Given the description of an element on the screen output the (x, y) to click on. 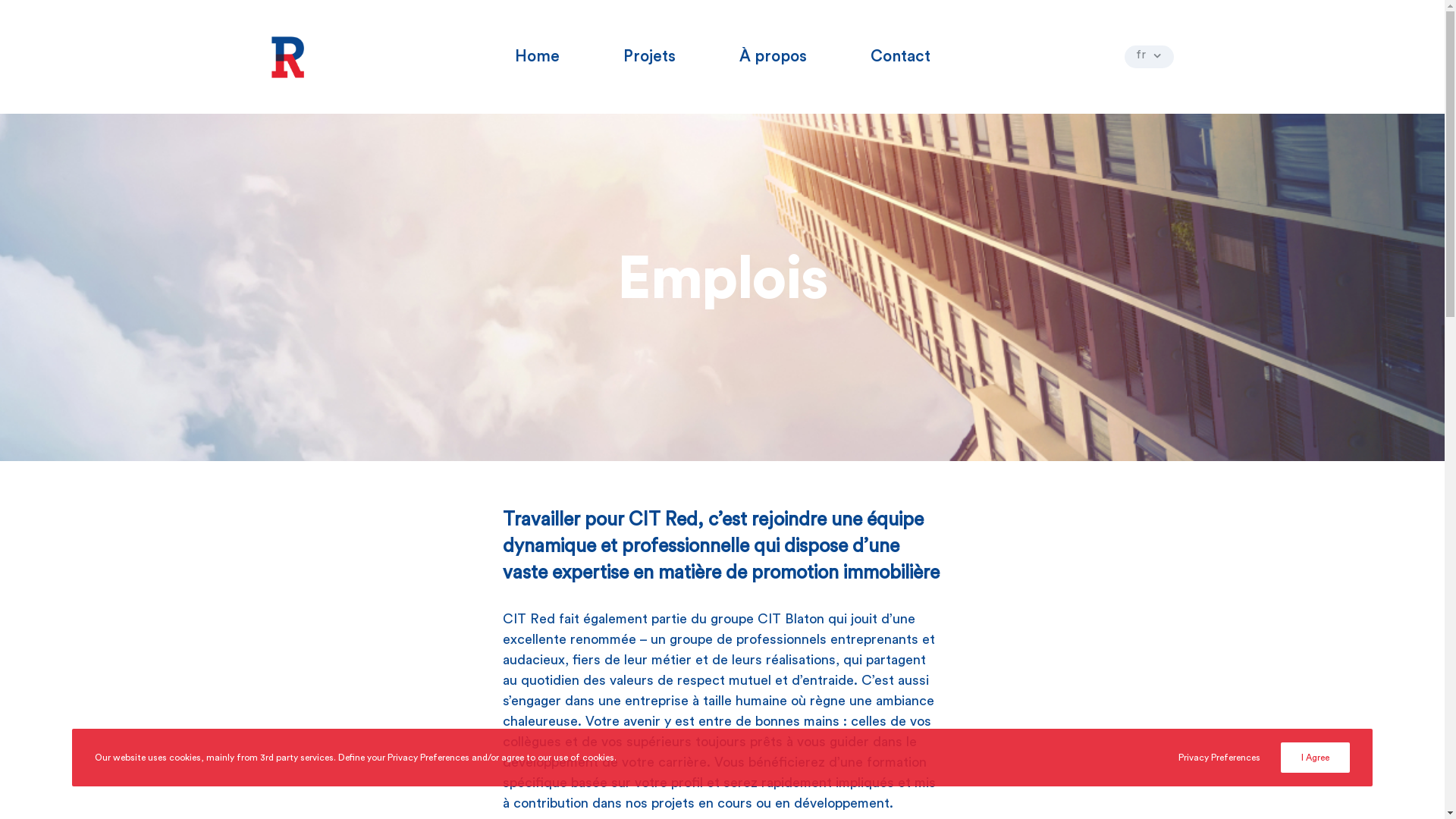
Home Element type: text (536, 56)
I Agree Element type: text (1314, 757)
fr Element type: text (1148, 56)
Projets Element type: text (649, 56)
Contact Element type: text (900, 56)
Privacy Preferences Element type: text (1219, 757)
